Given the description of an element on the screen output the (x, y) to click on. 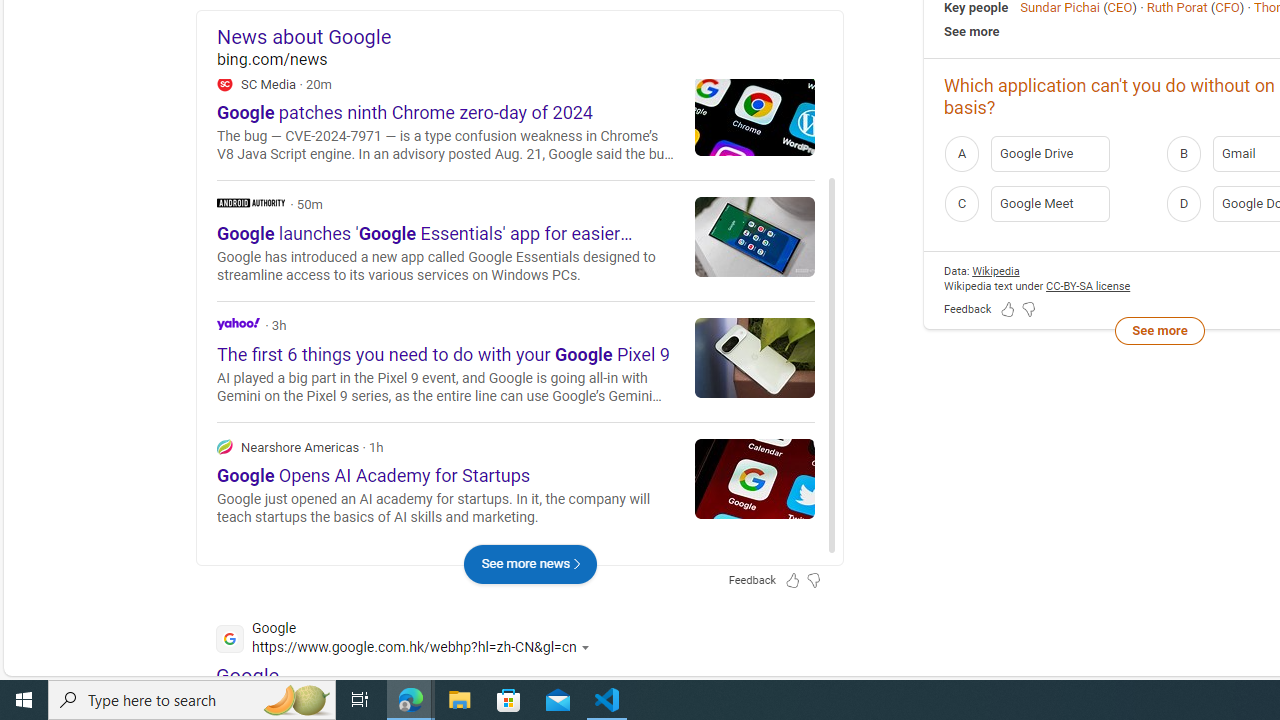
Export (791, 129)
The first 6 things you need to do with your Google Pixel 9 (755, 357)
Copy (759, 129)
Nearshore Americas (224, 446)
Data attribution Wikipedia (995, 270)
Yahoo (238, 322)
Android Authority (516, 240)
CC-BY-SA license (1088, 286)
